Given the description of an element on the screen output the (x, y) to click on. 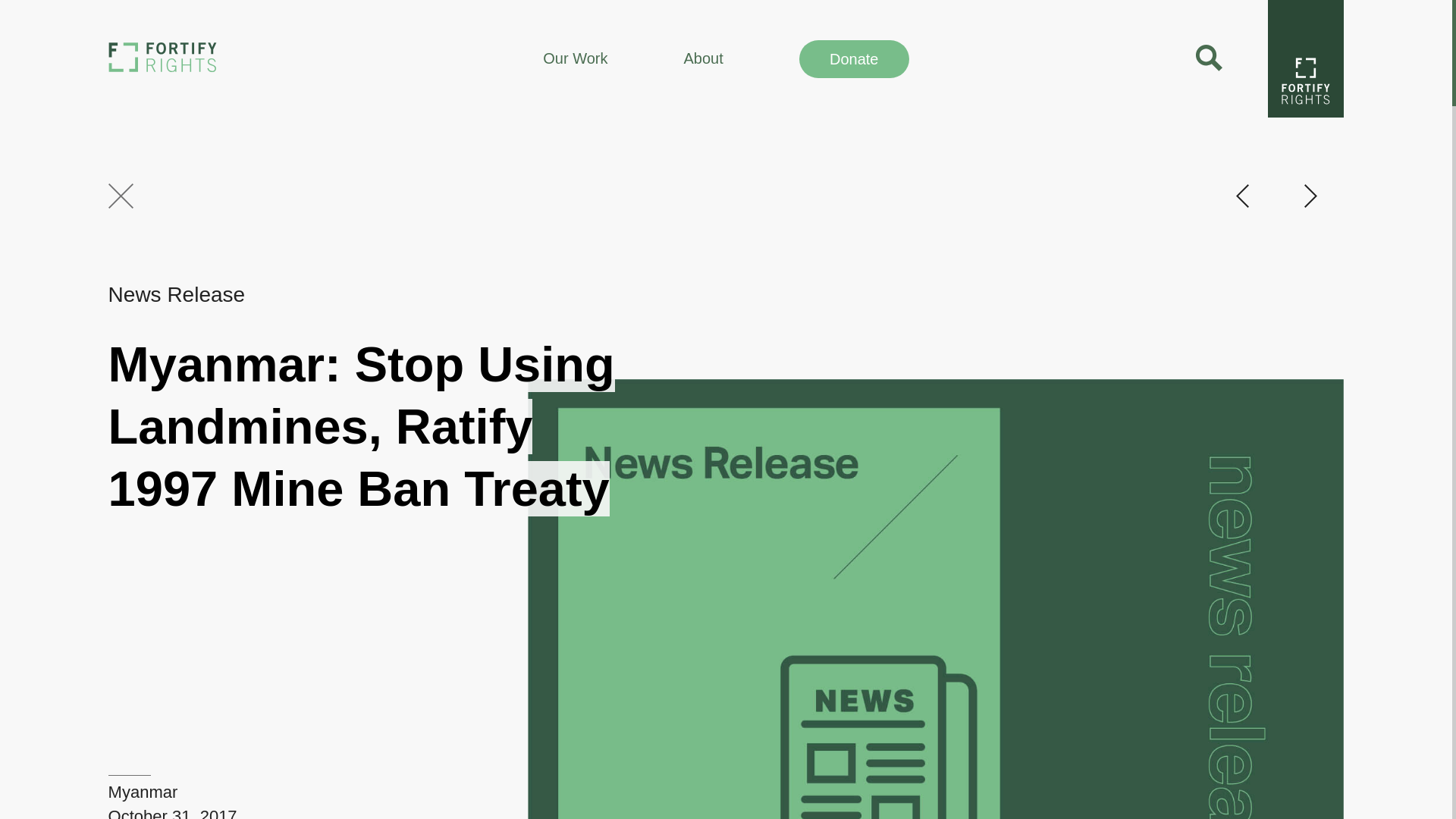
Our Work (575, 57)
Donate (853, 57)
About (702, 57)
